Given the description of an element on the screen output the (x, y) to click on. 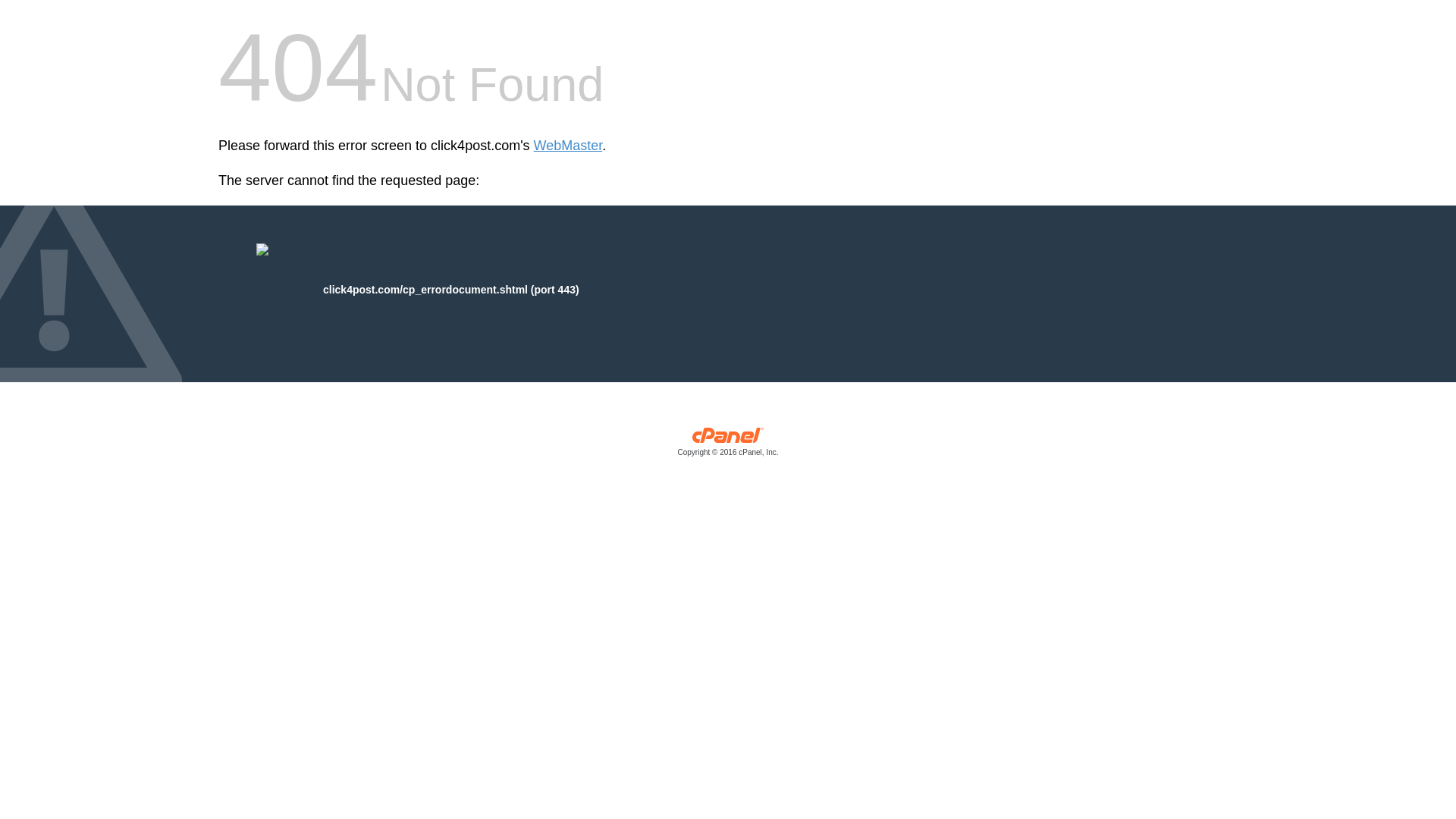
cPanel, Inc. (727, 445)
WebMaster (568, 145)
